Given the description of an element on the screen output the (x, y) to click on. 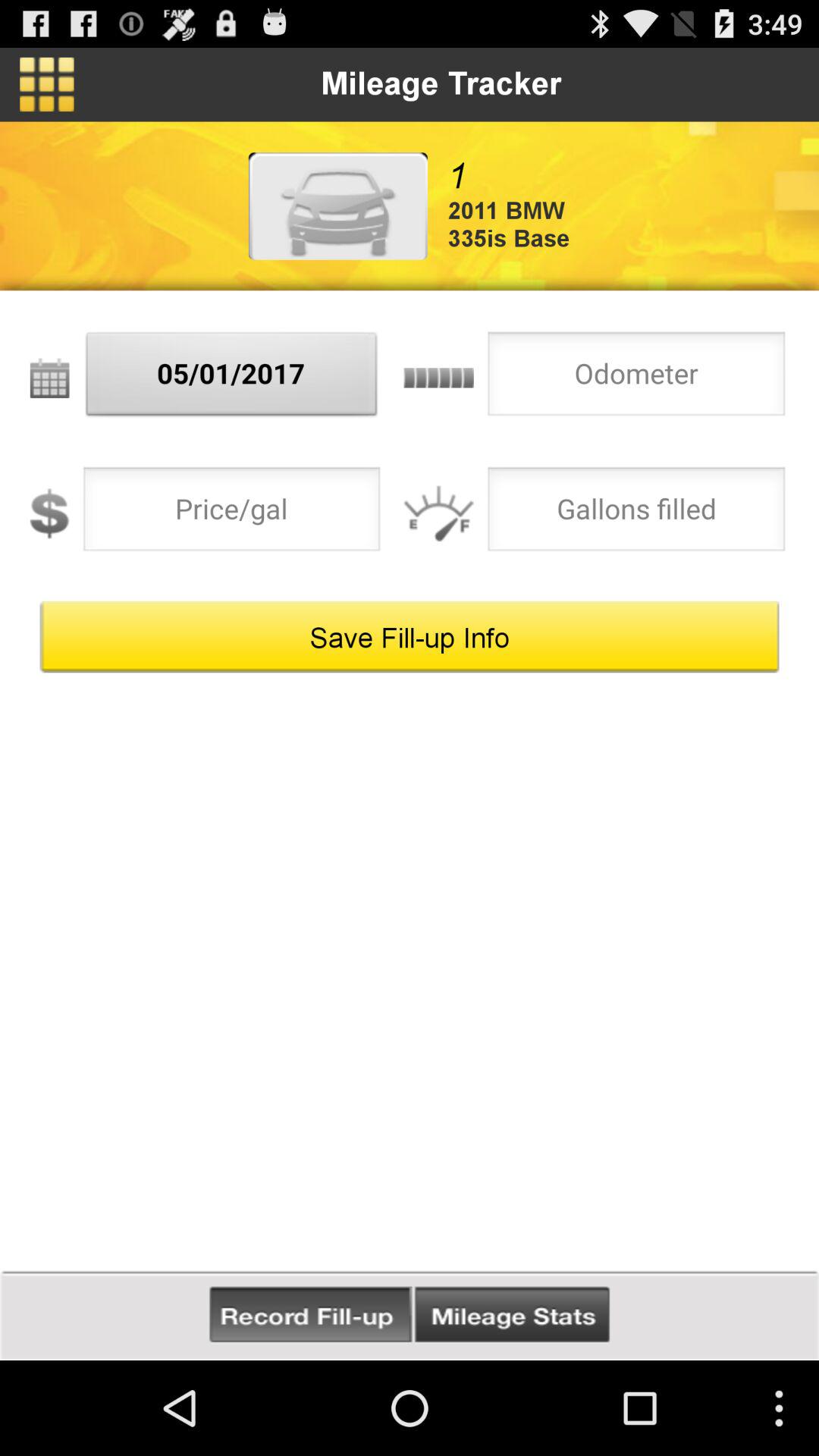
launch icon next to the mileage tracker icon (46, 84)
